Given the description of an element on the screen output the (x, y) to click on. 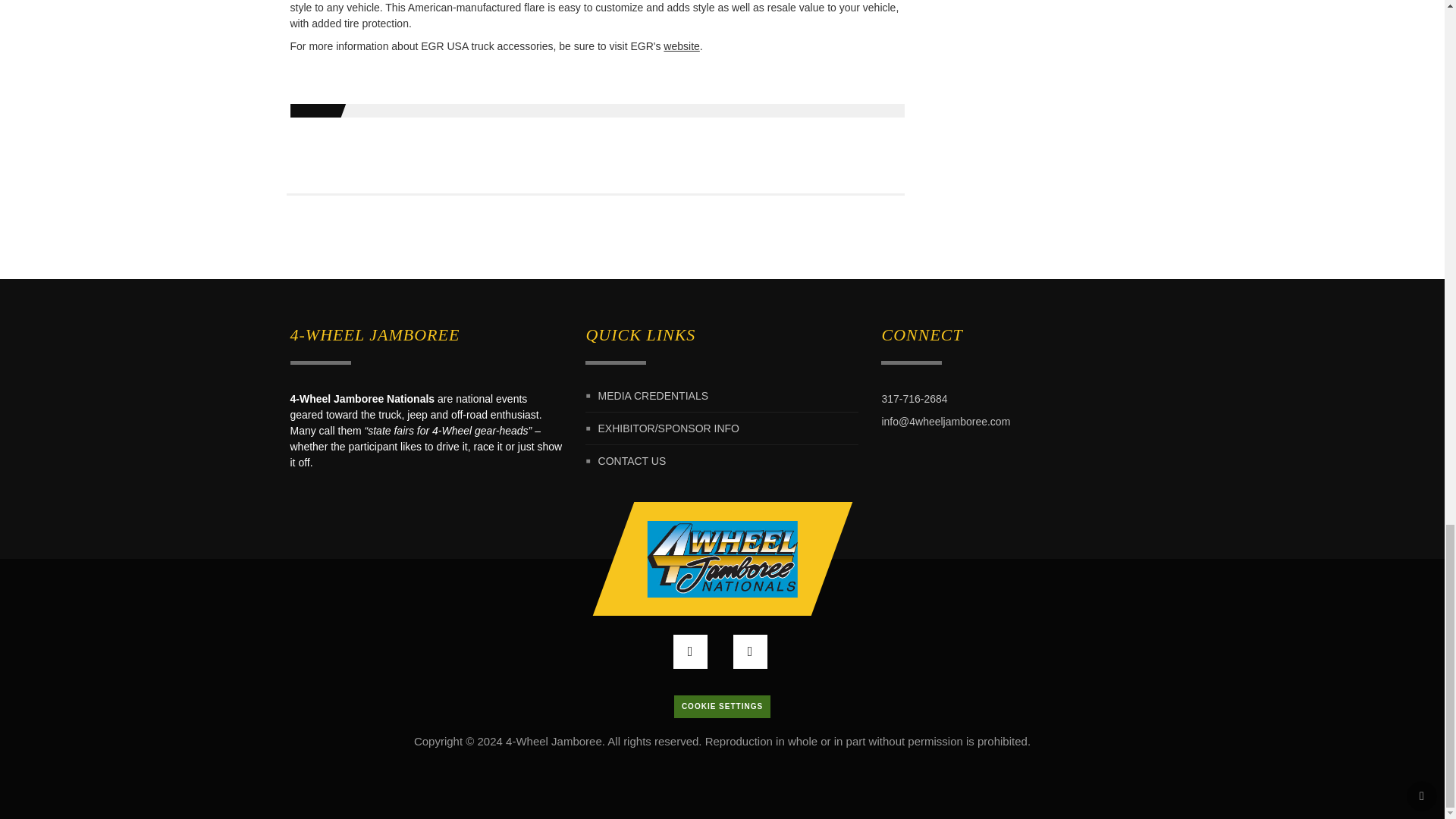
MEDIA CREDENTIALS (652, 395)
COOKIE SETTINGS (722, 706)
CONTACT US (632, 460)
317-716-2684 (913, 398)
website (680, 46)
